Given the description of an element on the screen output the (x, y) to click on. 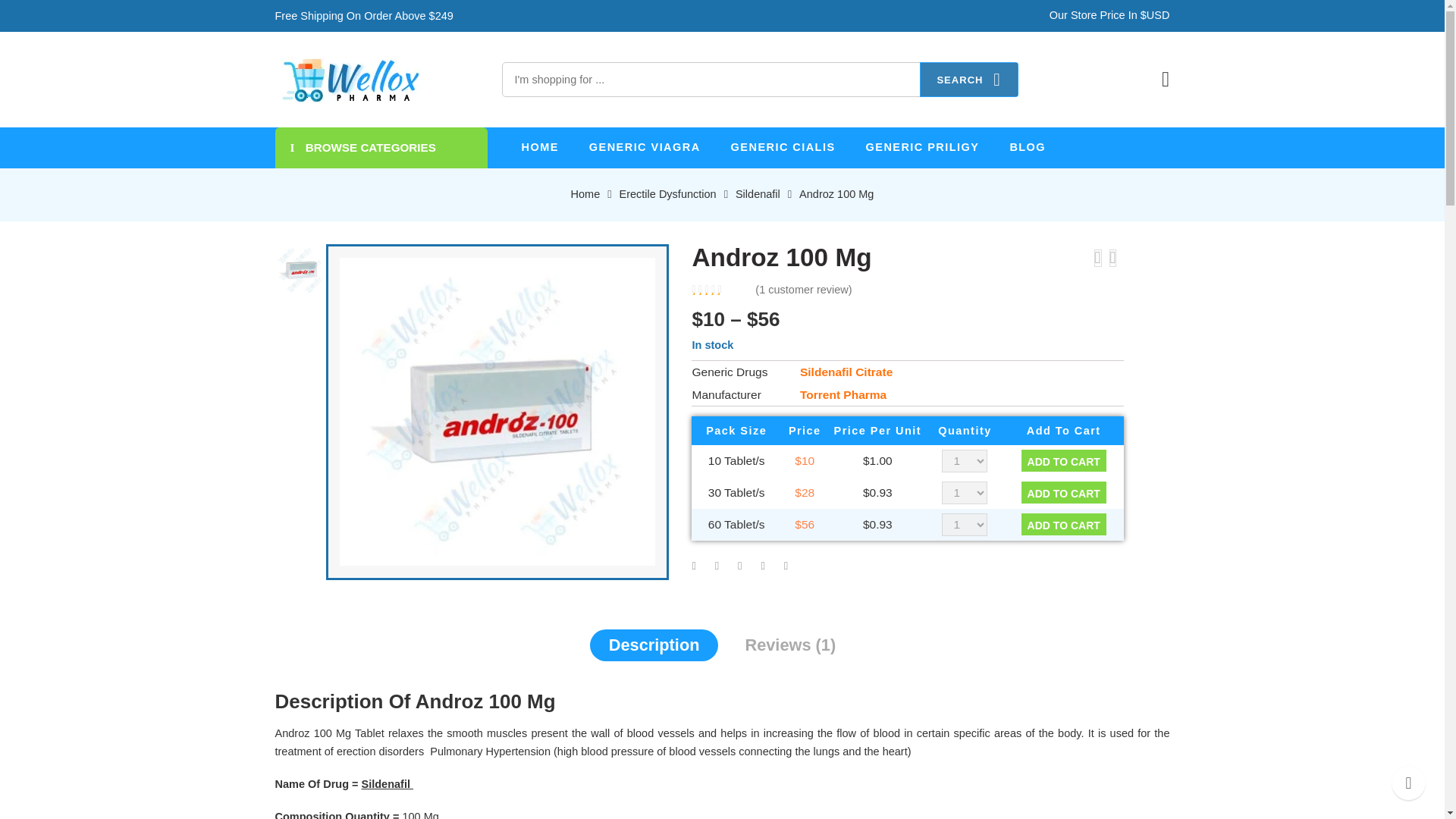
BLOG (1027, 147)
Add To Cart (1064, 460)
Add To Cart (1064, 524)
SEARCH (968, 79)
WelloxPharma - Buy Generic Drugs Online With Cheap Price (350, 79)
Erectile Dysfunction (668, 193)
GENERIC CIALIS (782, 147)
Home (584, 193)
Add To Cart (1064, 492)
Sildenafil (757, 193)
